Given the description of an element on the screen output the (x, y) to click on. 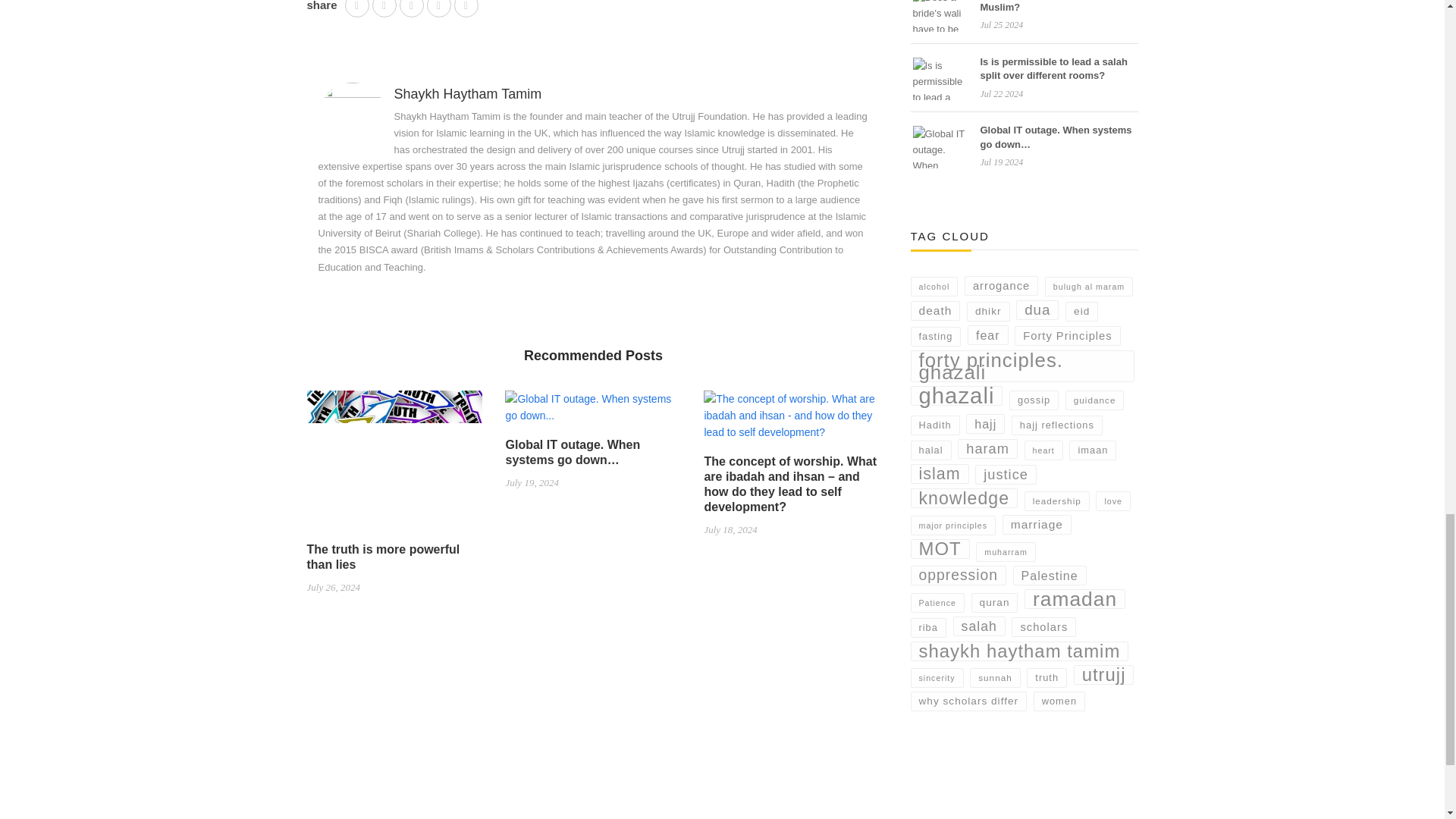
Global IT outage. When systems go down... (593, 413)
The truth is more powerful than lies (393, 465)
Posts by Shaykh Haytham Tamim (467, 93)
